Given the description of an element on the screen output the (x, y) to click on. 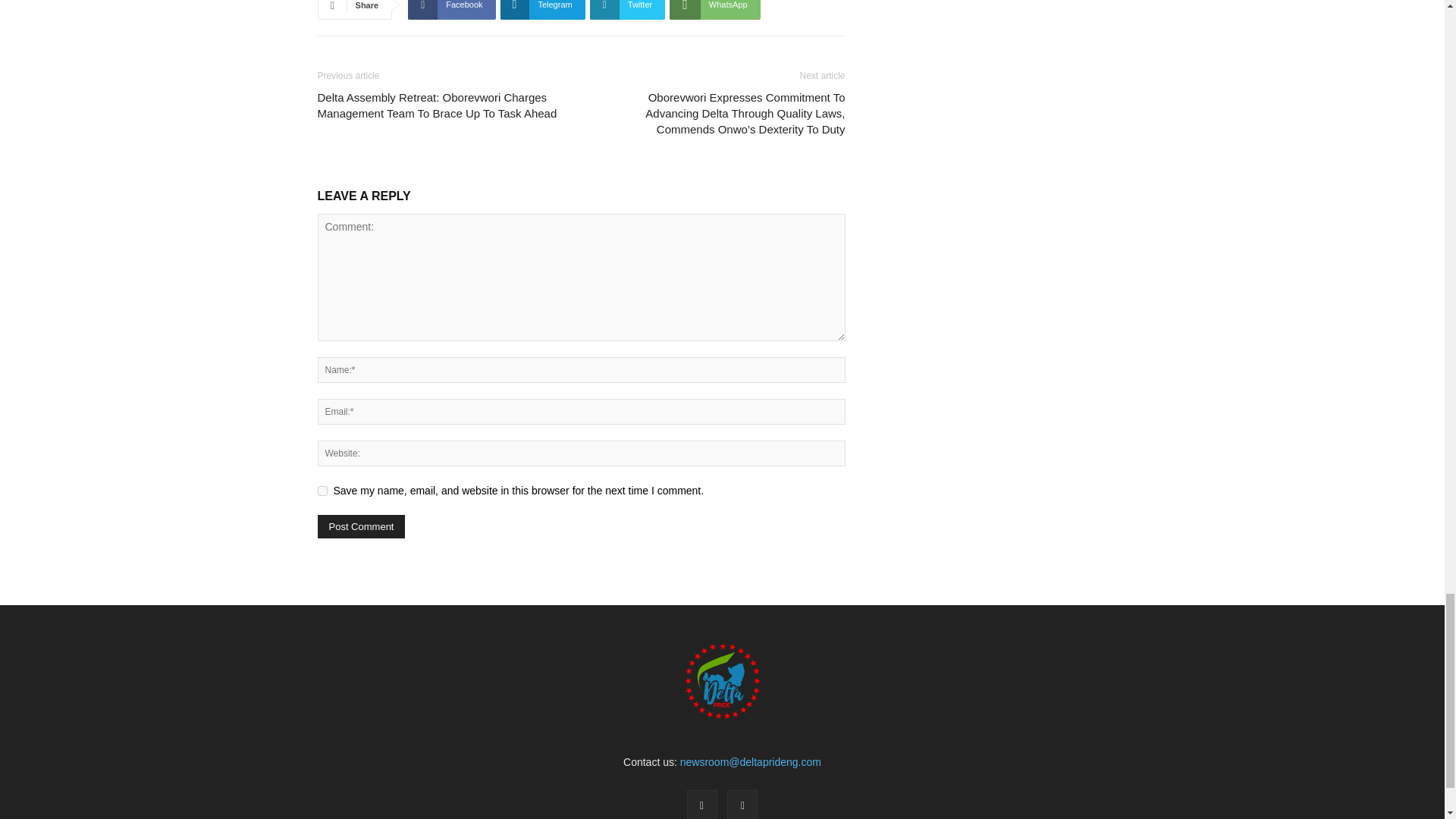
Post Comment (360, 526)
WhatsApp (714, 9)
yes (321, 491)
Telegram (542, 9)
Twitter (627, 9)
Post Comment (360, 526)
WhatsApp (714, 9)
Facebook (702, 804)
Telegram (542, 9)
Twitter (741, 804)
Twitter (627, 9)
Facebook (451, 9)
Facebook (451, 9)
